Given the description of an element on the screen output the (x, y) to click on. 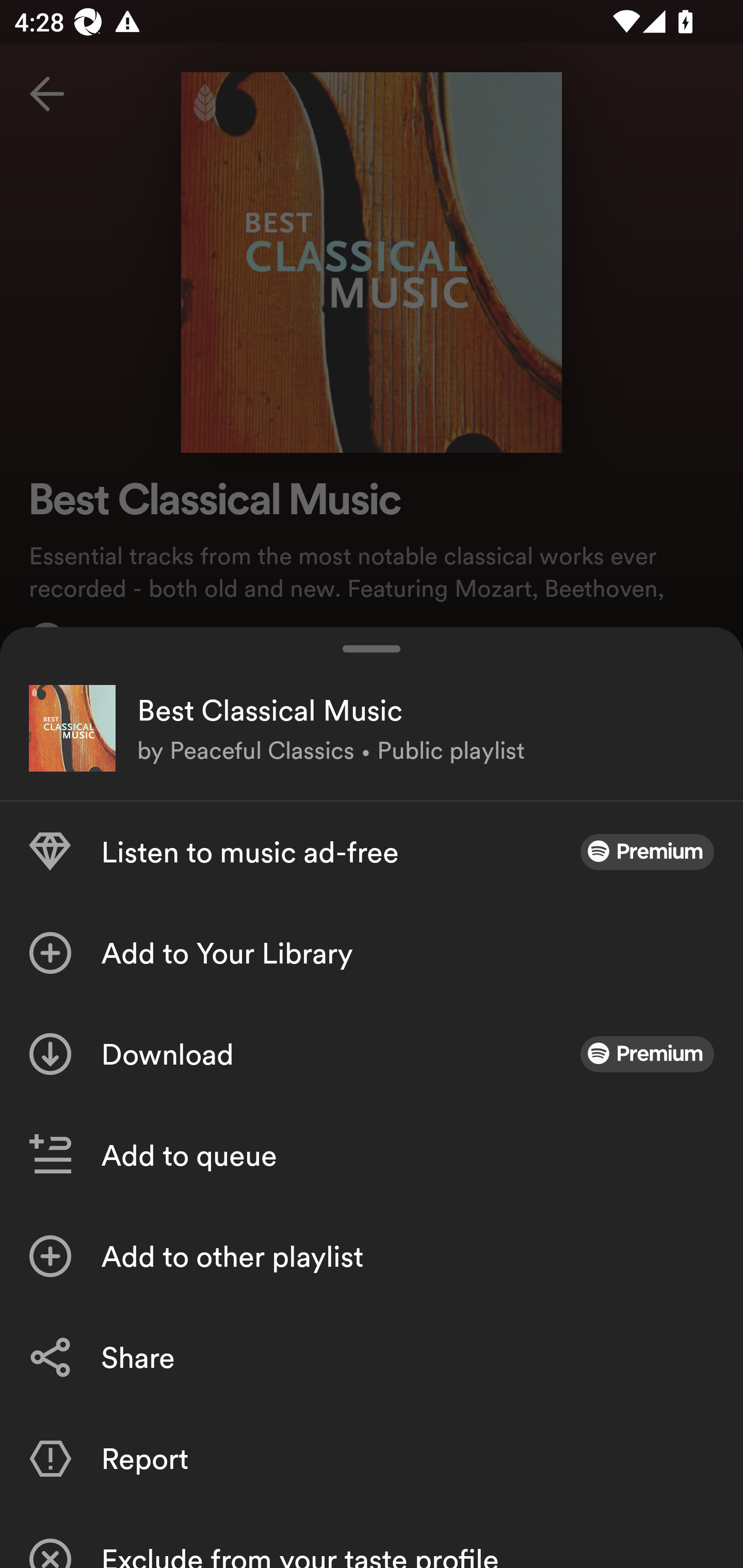
Listen to music ad-free (371, 852)
Add to Your Library (371, 953)
Download (371, 1054)
Add to queue (371, 1155)
Add to other playlist (371, 1256)
Share (371, 1357)
Report (371, 1458)
Exclude from your taste profile (371, 1538)
